Given the description of an element on the screen output the (x, y) to click on. 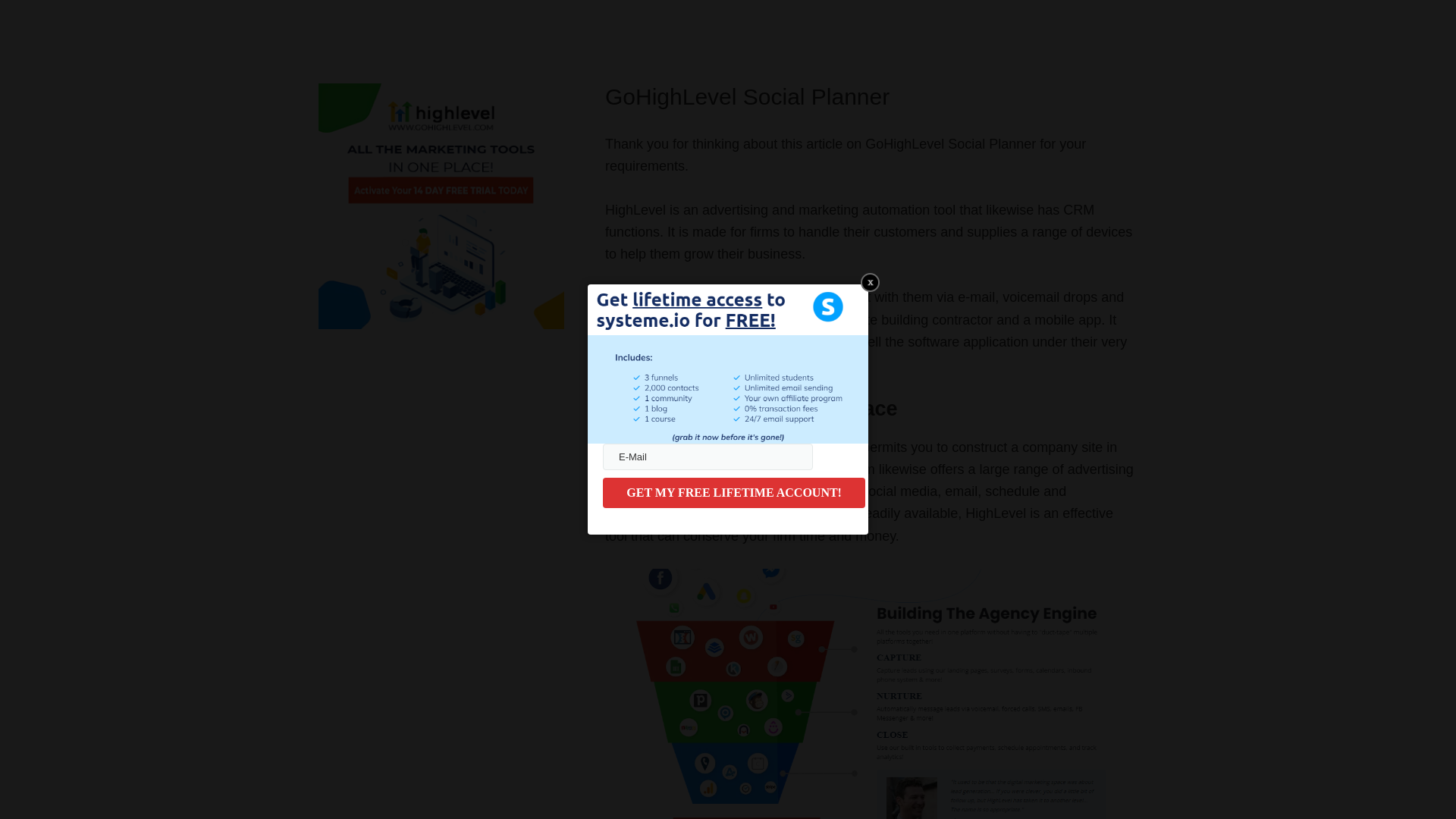
GET MY FREE LIFETIME ACCOUNT! (733, 492)
GET MY FREE LIFETIME ACCOUNT! (733, 492)
